Given the description of an element on the screen output the (x, y) to click on. 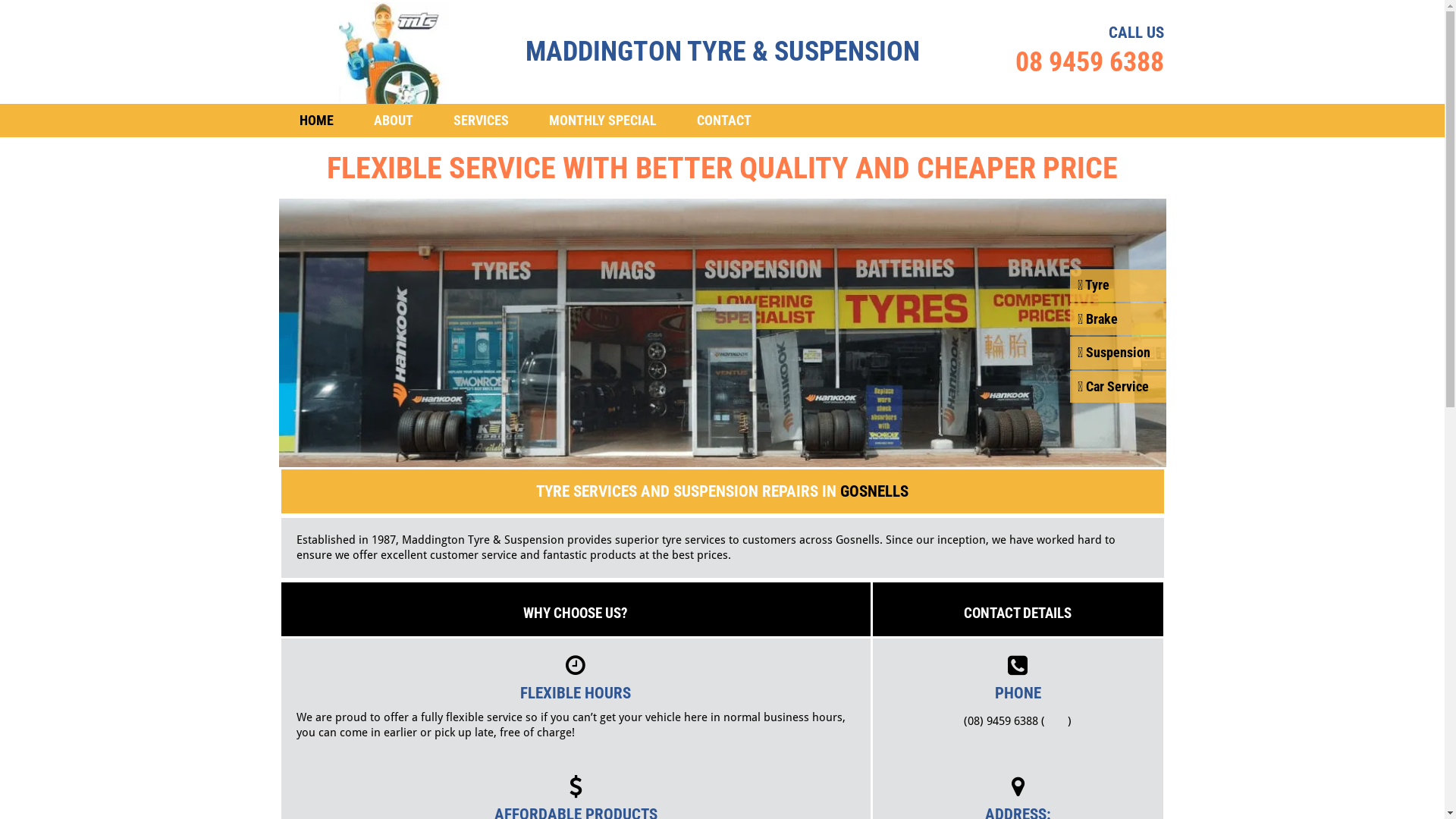
(08) 9459 6388 Element type: text (1000, 721)
CONTACT Element type: text (723, 120)
ABOUT Element type: text (392, 120)
maddington tyre suspension Element type: hover (389, 52)
HOME Element type: text (315, 120)
08 9459 6388 Element type: text (1088, 62)
SERVICES Element type: text (480, 120)
MONTHLY SPECIAL Element type: text (602, 120)
